Given the description of an element on the screen output the (x, y) to click on. 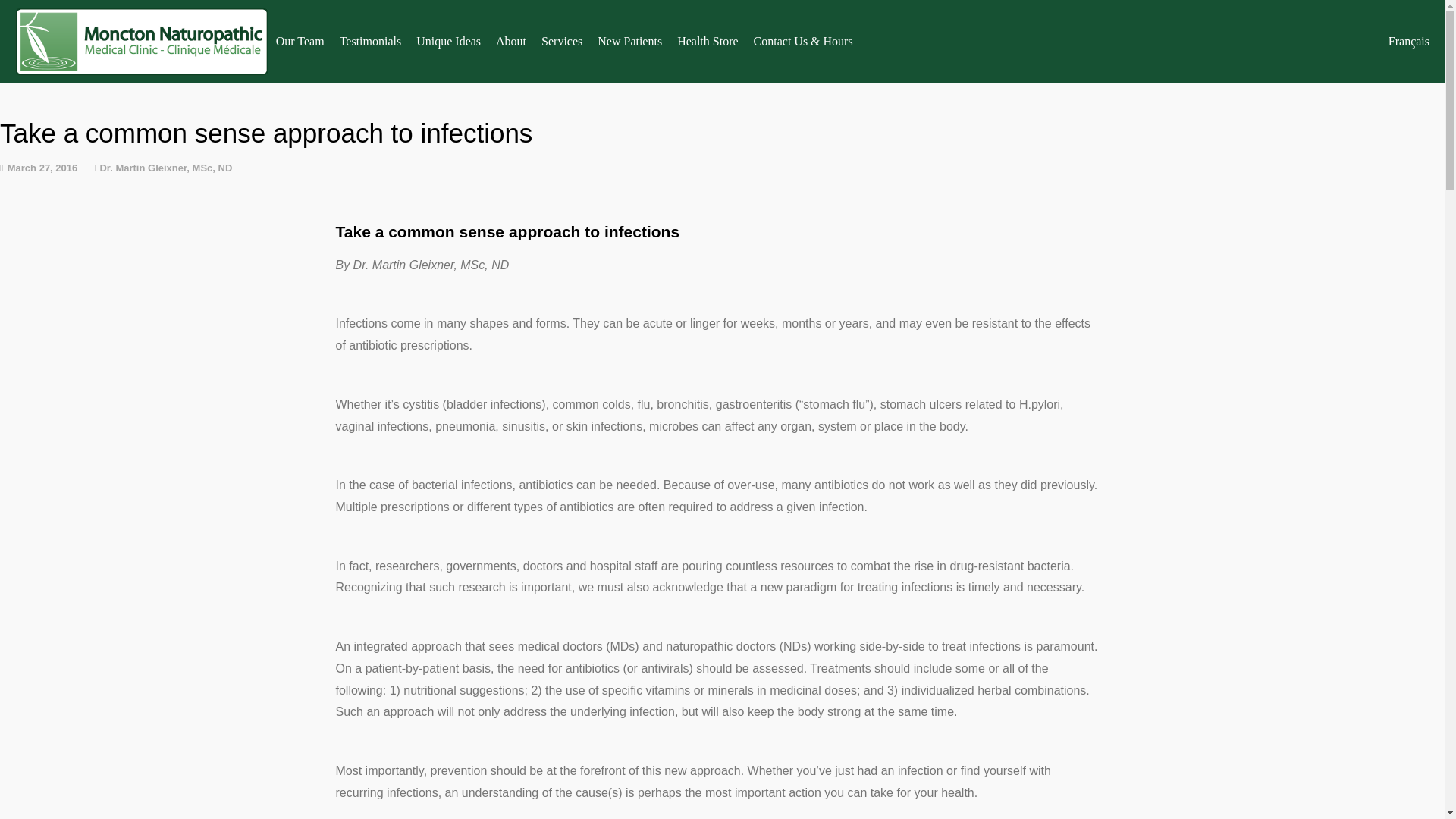
About (510, 41)
Our Team (299, 41)
New Patients (629, 41)
Testimonials (370, 41)
Services (561, 41)
Unique Ideas (448, 41)
Health Store (707, 41)
